Given the description of an element on the screen output the (x, y) to click on. 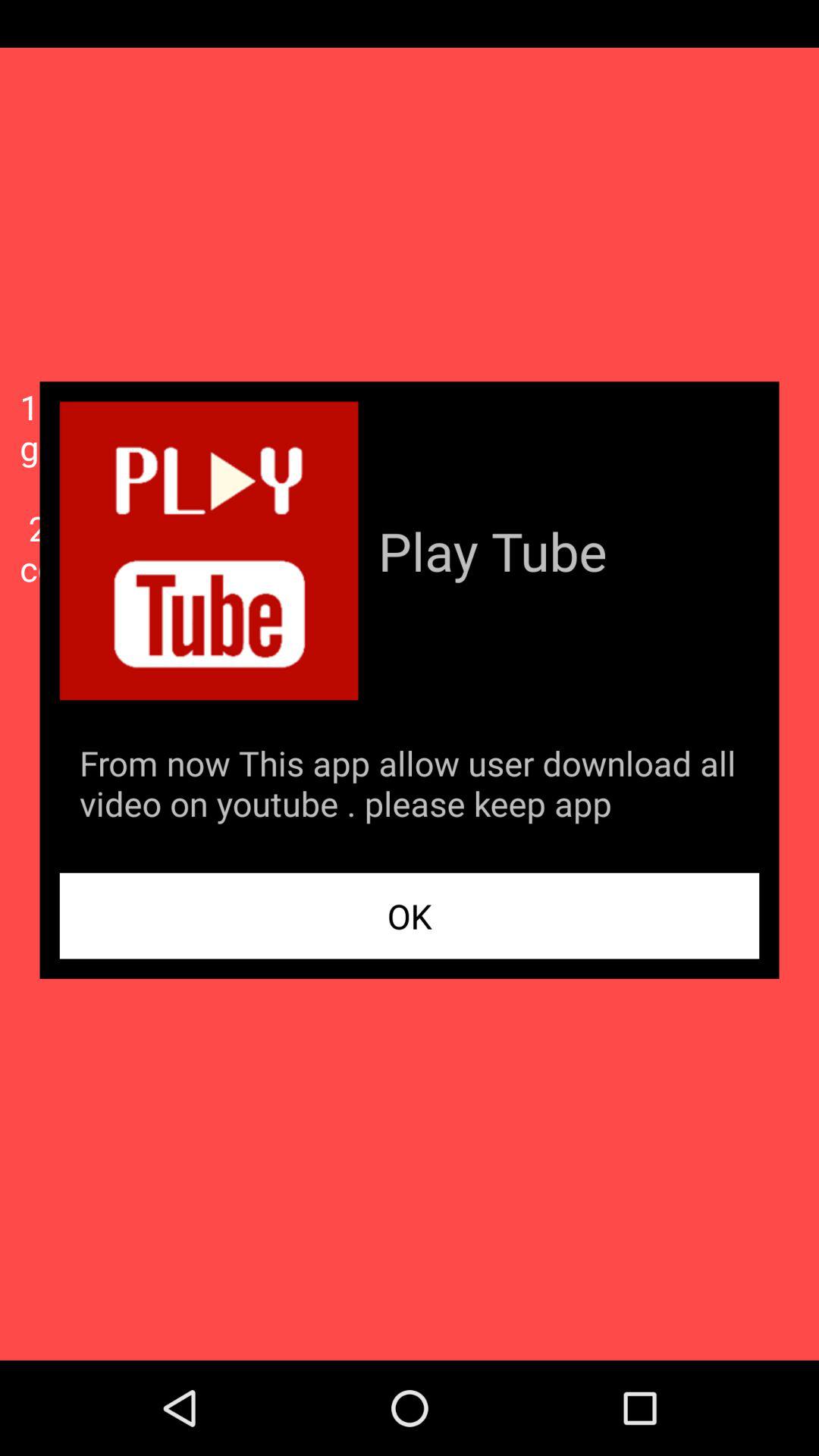
scroll until the from now this item (409, 786)
